Given the description of an element on the screen output the (x, y) to click on. 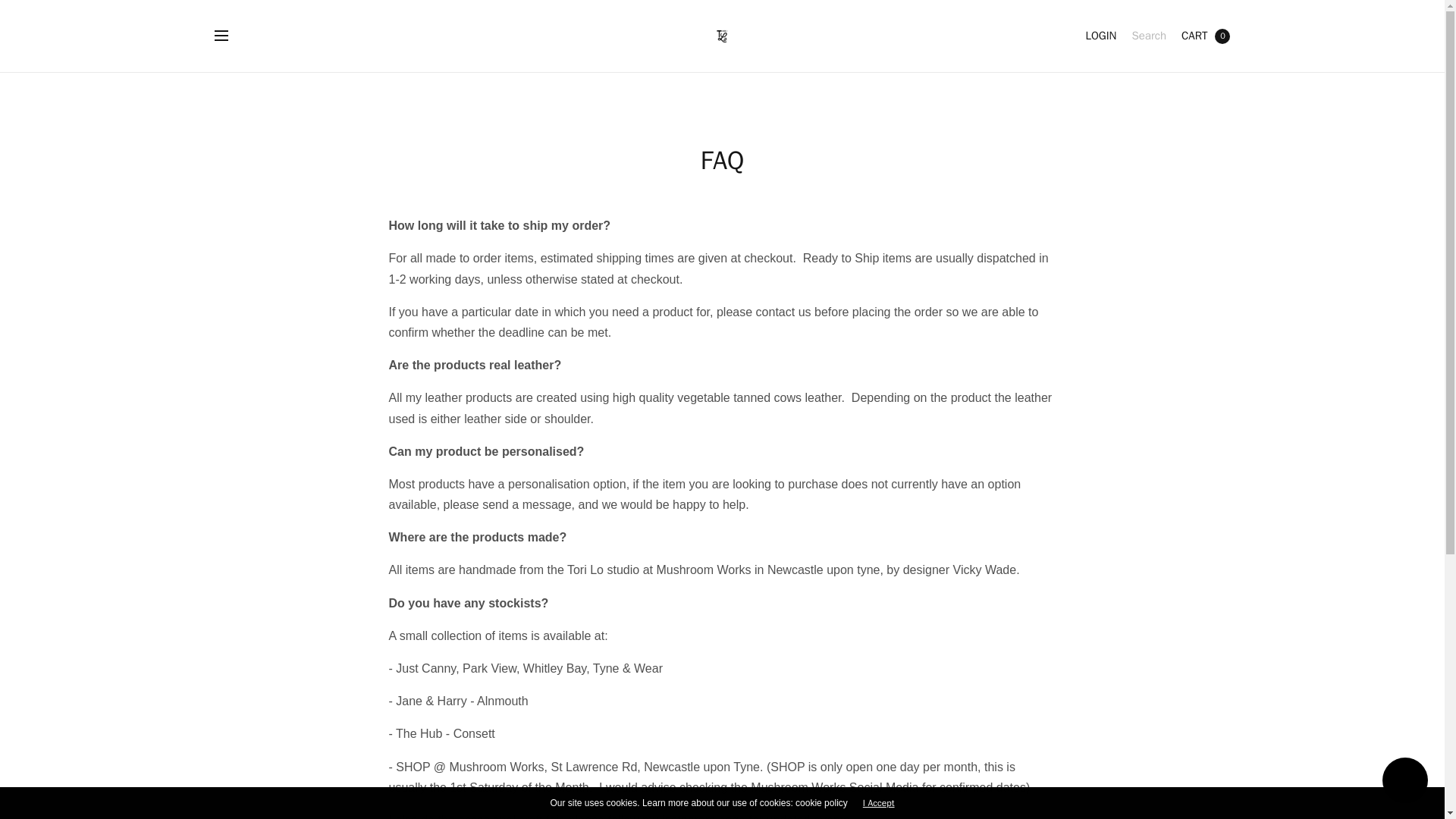
LOGIN (1100, 35)
Search (1148, 35)
Toggle Mobile Menu (230, 36)
